Given the description of an element on the screen output the (x, y) to click on. 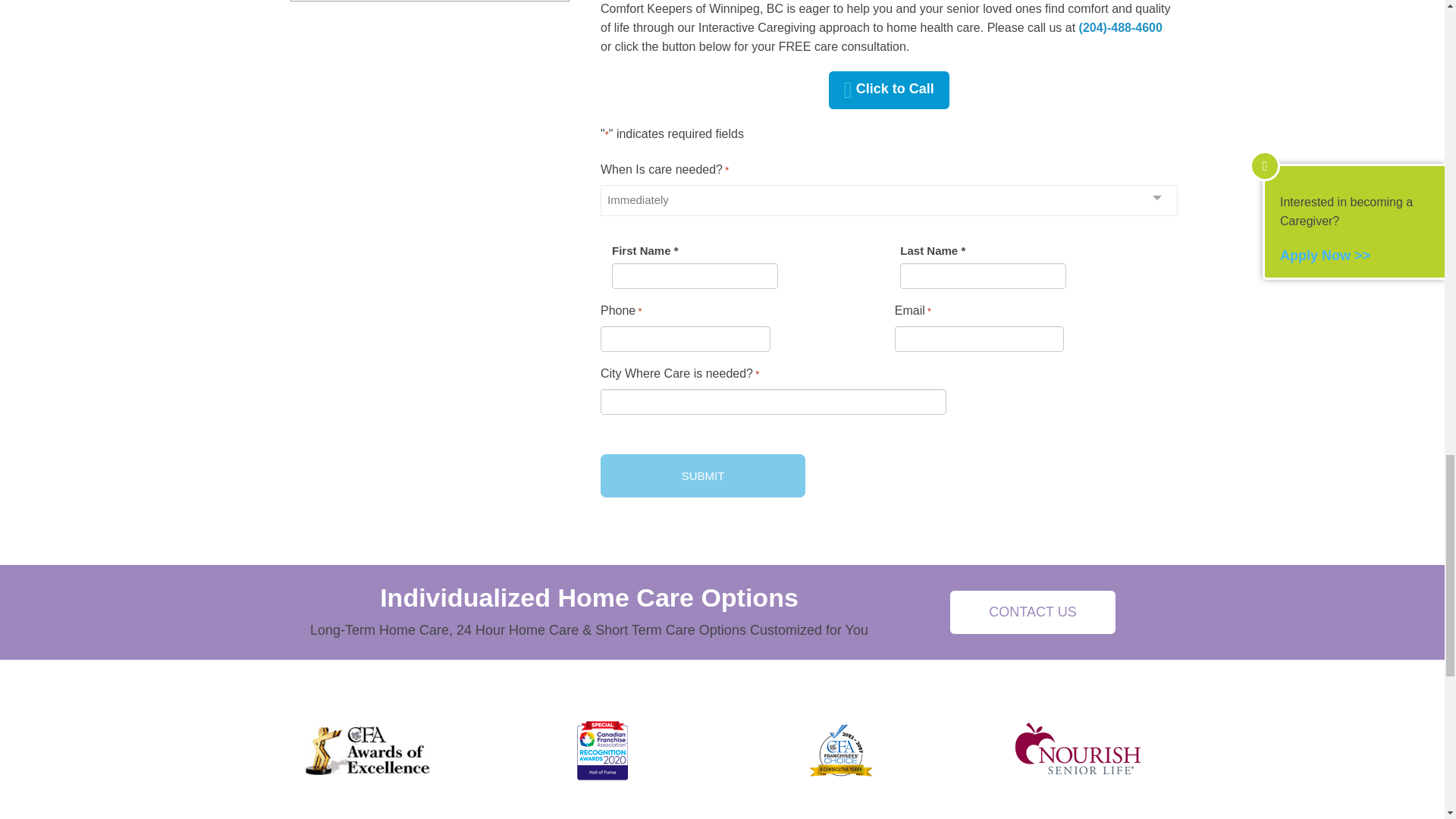
Submit (702, 475)
